Given the description of an element on the screen output the (x, y) to click on. 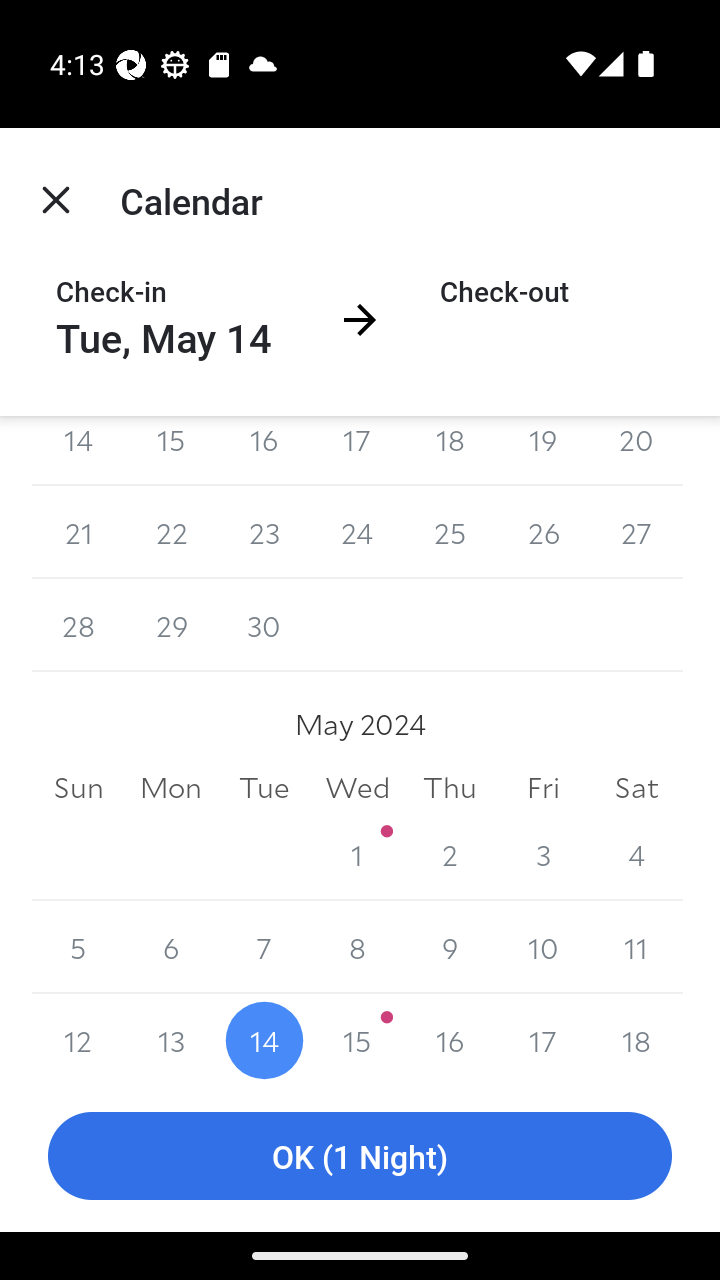
14 14 April 2024 (78, 451)
15 15 April 2024 (171, 451)
16 16 April 2024 (264, 451)
17 17 April 2024 (357, 451)
18 18 April 2024 (449, 451)
19 19 April 2024 (542, 451)
20 20 April 2024 (636, 451)
21 21 April 2024 (78, 532)
22 22 April 2024 (171, 532)
23 23 April 2024 (264, 532)
24 24 April 2024 (357, 532)
25 25 April 2024 (449, 532)
26 26 April 2024 (542, 532)
27 27 April 2024 (636, 532)
28 28 April 2024 (78, 625)
29 29 April 2024 (171, 625)
30 30 April 2024 (264, 625)
Sun (78, 786)
Mon (171, 786)
Tue (264, 786)
Wed (357, 786)
Thu (449, 786)
Fri (542, 786)
Sat (636, 786)
1 1 May 2024 (357, 854)
2 2 May 2024 (449, 854)
3 3 May 2024 (542, 854)
4 4 May 2024 (636, 854)
5 5 May 2024 (78, 947)
6 6 May 2024 (171, 947)
7 7 May 2024 (264, 947)
8 8 May 2024 (357, 947)
9 9 May 2024 (449, 947)
10 10 May 2024 (542, 947)
11 11 May 2024 (636, 947)
12 12 May 2024 (78, 1037)
13 13 May 2024 (171, 1037)
14 14 May 2024 (264, 1037)
15 15 May 2024 (357, 1037)
16 16 May 2024 (449, 1037)
17 17 May 2024 (542, 1037)
18 18 May 2024 (636, 1037)
OK (1 Night) (359, 1156)
